Given the description of an element on the screen output the (x, y) to click on. 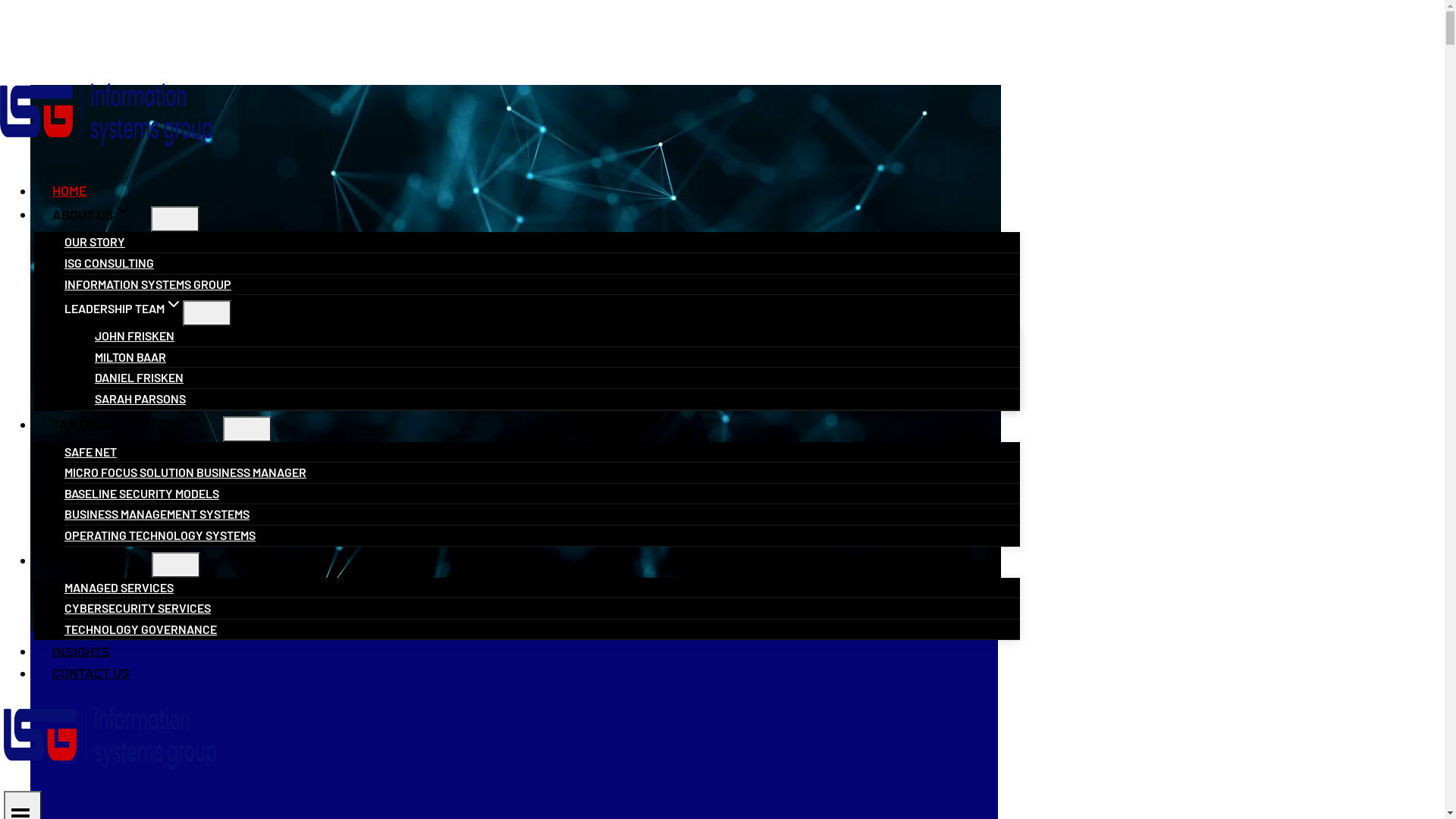
OPERATING TECHNOLOGY SYSTEMS Element type: text (159, 534)
HOME Element type: text (70, 190)
MICRO FOCUS SOLUTION BUSINESS MANAGER Element type: text (185, 471)
DANIEL FRISKEN Element type: text (138, 376)
MILTON BAAR Element type: text (130, 356)
Skip to content Element type: text (5, 59)
LEADERSHIP TEAMEXPAND Element type: text (123, 307)
ISG CONSULTING Element type: text (108, 262)
SAFE NET Element type: text (90, 451)
BUSINESS MANAGEMENT SYSTEMS Element type: text (156, 513)
CYBERSECURITY SERVICES Element type: text (137, 607)
MANAGED SERVICES Element type: text (118, 586)
OUR STORY Element type: text (94, 241)
TAILORED SOLUTIONSEXPAND Element type: text (128, 423)
SERVICESEXPAND Element type: text (92, 559)
CONTACT US Element type: text (91, 672)
JOHN FRISKEN Element type: text (134, 335)
SARAH PARSONS Element type: text (139, 398)
ABOUT USEXPAND Element type: text (92, 214)
INSIGHTS Element type: text (81, 650)
TECHNOLOGY GOVERNANCE Element type: text (140, 628)
BASELINE SECURITY MODELS Element type: text (141, 492)
INFORMATION SYSTEMS GROUP Element type: text (147, 283)
